Given the description of an element on the screen output the (x, y) to click on. 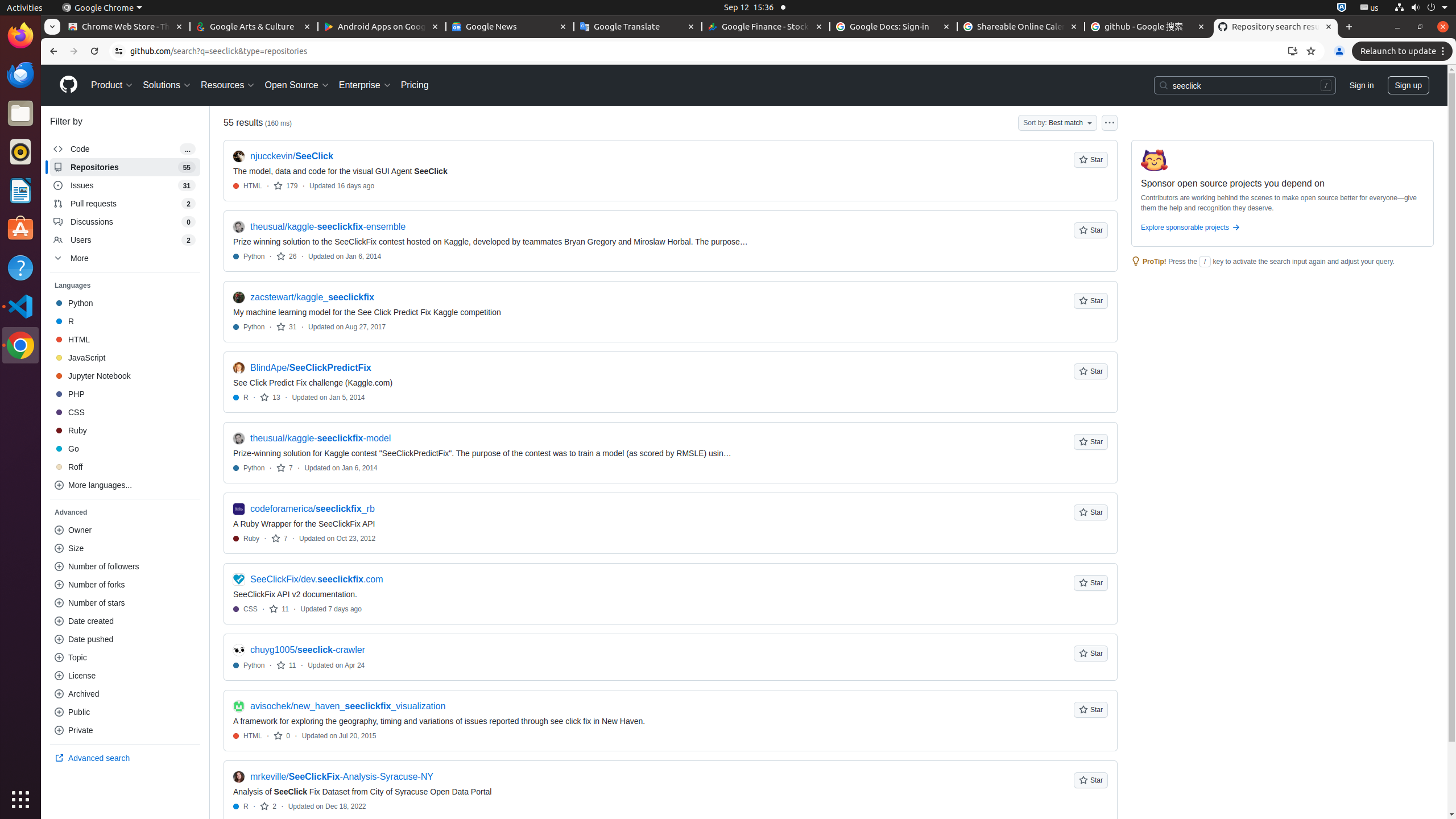
theusual/kaggle-seeclickfix-model Element type: link (320, 438)
7 stars Element type: link (284, 467)
Relaunch to update Element type: push-button (1403, 50)
‎Ruby‎ Element type: link (125, 430)
LibreOffice Writer Element type: push-button (20, 190)
